Given the description of an element on the screen output the (x, y) to click on. 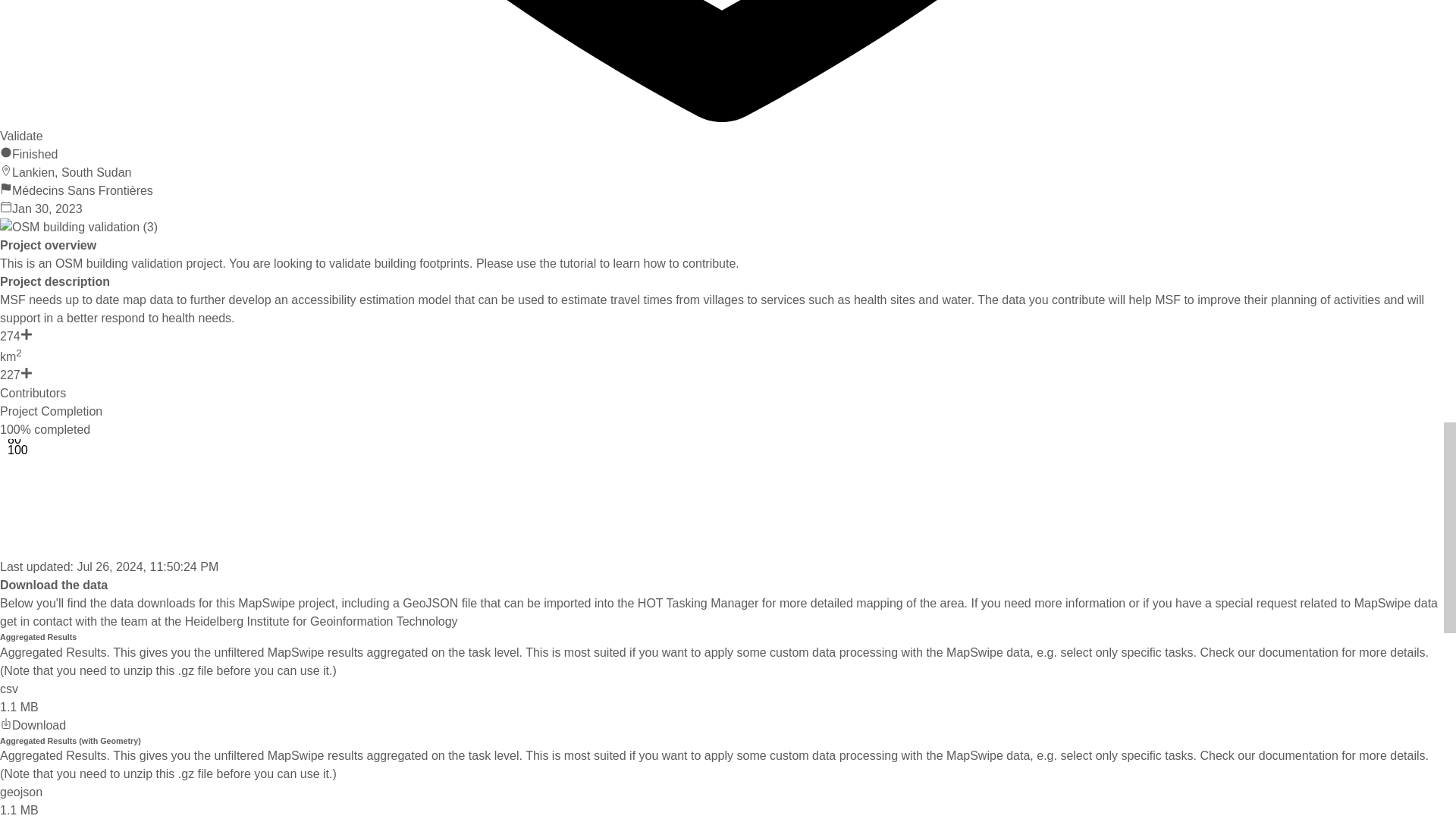
Download (32, 725)
